Given the description of an element on the screen output the (x, y) to click on. 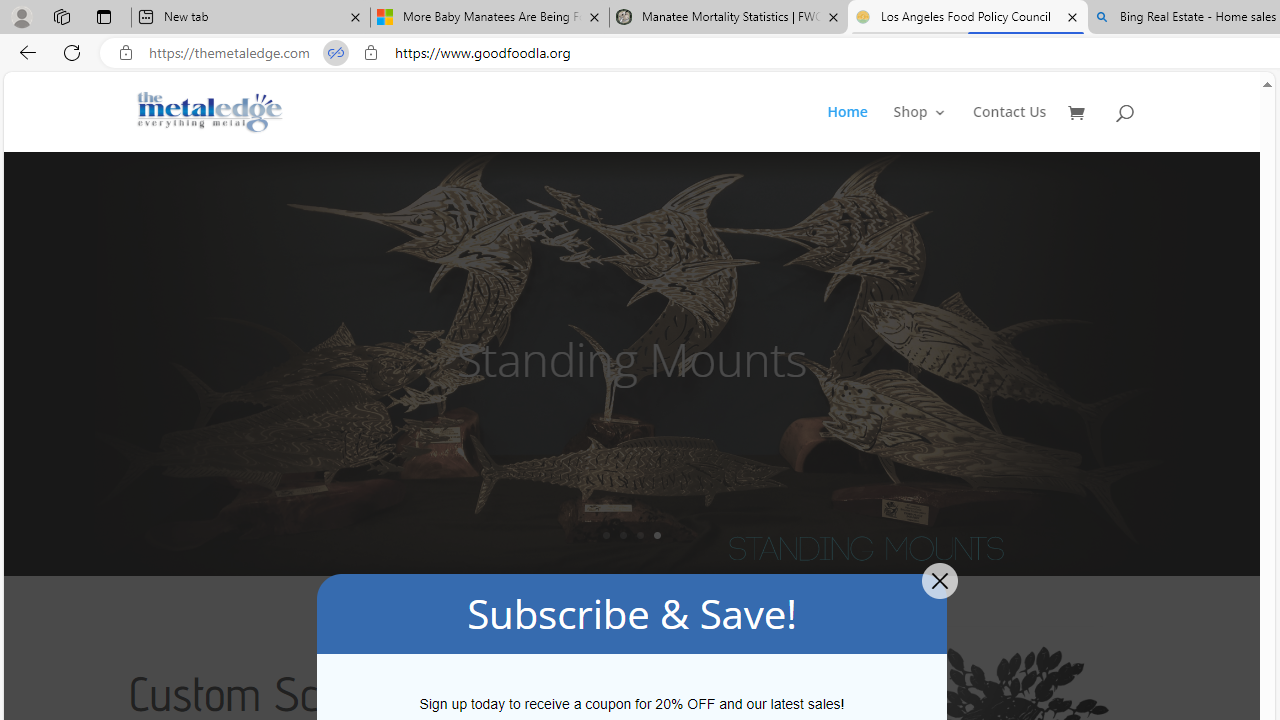
Back (24, 52)
Metal Fish Sculptures & Metal Designs (210, 111)
Tabs in split screen (335, 53)
Shop 3 (920, 128)
3 (640, 535)
Refresh (72, 52)
Manatee Mortality Statistics | FWC (729, 17)
Metal Fish Sculptures & Metal Designs (210, 111)
